Given the description of an element on the screen output the (x, y) to click on. 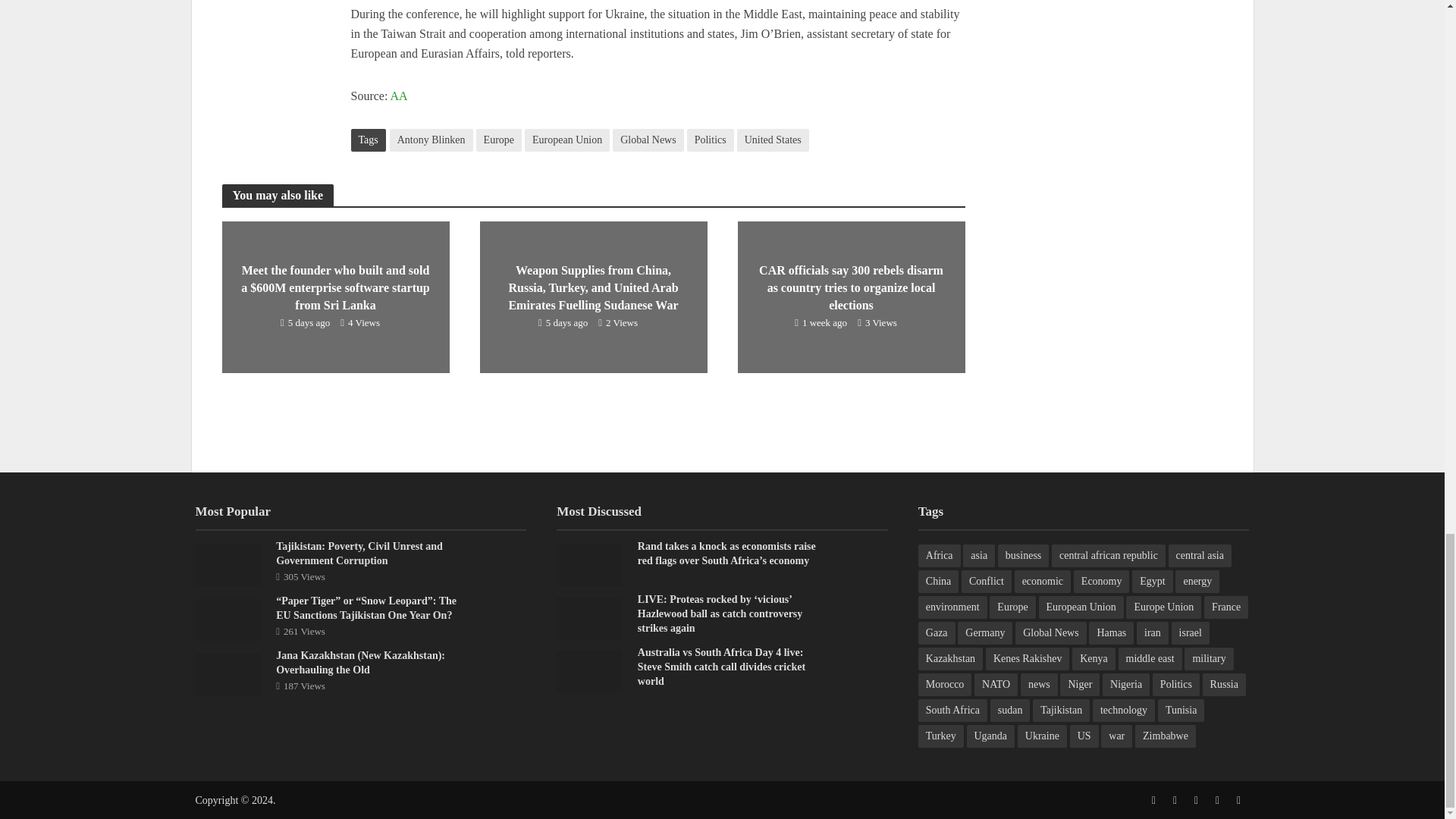
Tajikistan: Poverty, Civil Unrest and Government Corruption (228, 563)
